Given the description of an element on the screen output the (x, y) to click on. 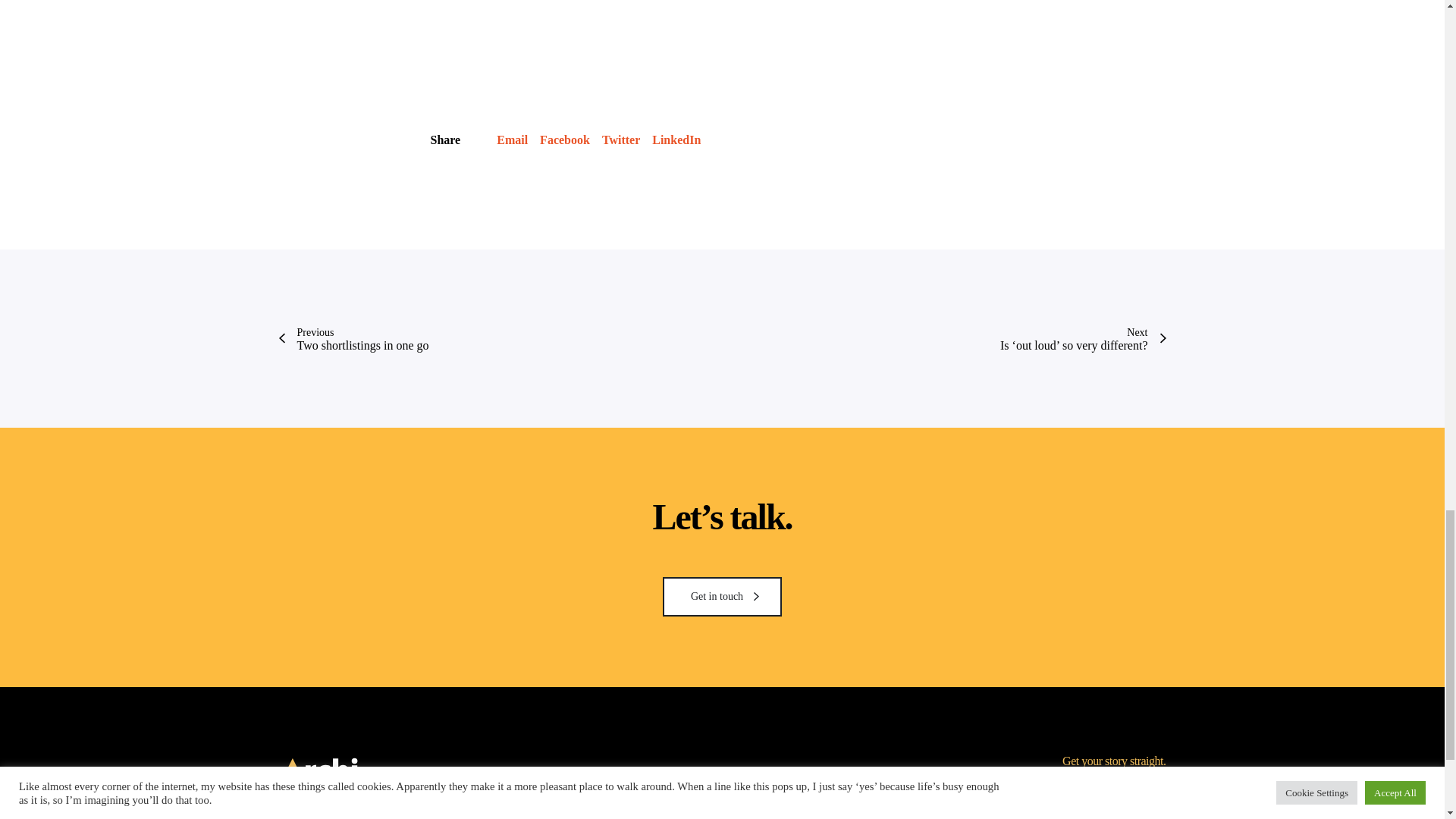
Twitter (621, 139)
Instagram (1126, 816)
Shorter, simpler, better (621, 139)
Email (511, 139)
LinkedIn (676, 139)
Contact me (721, 596)
Twitter (721, 596)
Shorter, simpler, better (1097, 816)
